Given the description of an element on the screen output the (x, y) to click on. 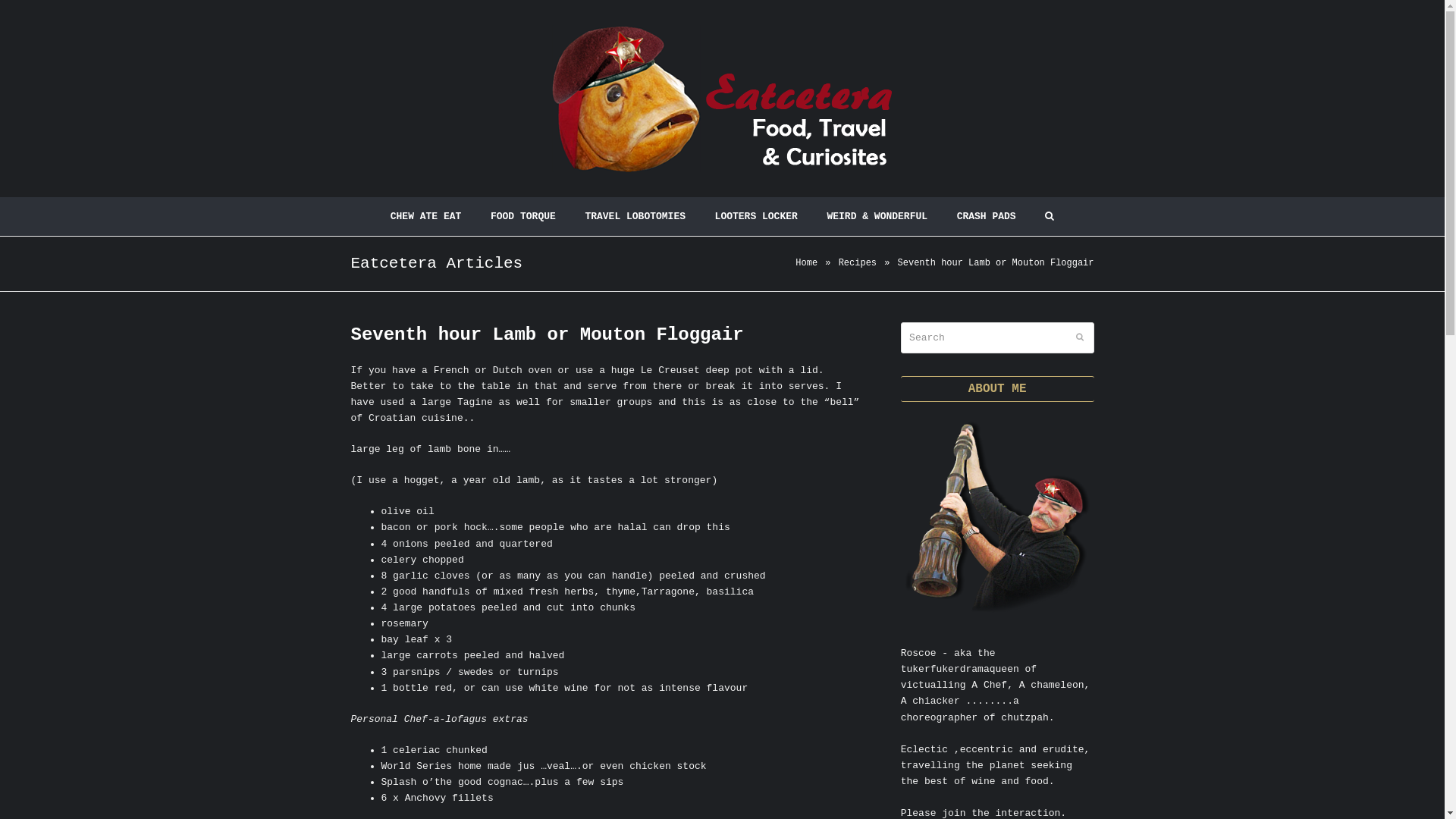
TRAVEL LOBOTOMIES Element type: text (634, 216)
CHEW ATE EAT Element type: text (425, 216)
Recipes Element type: text (857, 262)
Home Element type: text (806, 262)
LOOTERS LOCKER Element type: text (755, 216)
CRASH PADS Element type: text (985, 216)
FOOD TORQUE Element type: text (523, 216)
Submit Element type: text (1078, 337)
WEIRD & WONDERFUL Element type: text (876, 216)
